Given the description of an element on the screen output the (x, y) to click on. 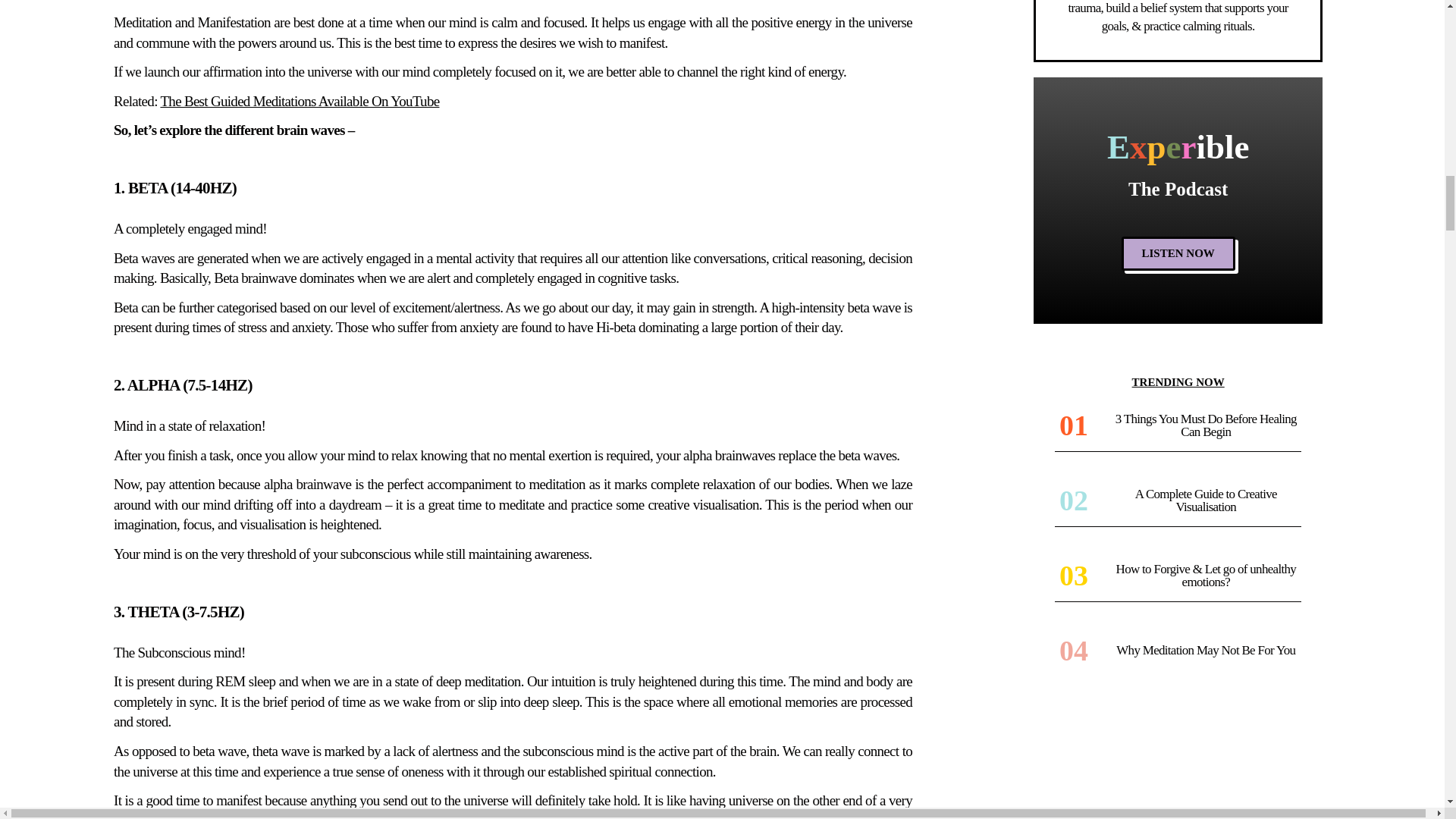
Why Meditation May Not Be For You (1205, 649)
LISTEN NOW (1177, 253)
The Best Guided Meditations Available On YouTube (299, 100)
A Complete Guide to Creative Visualisation (1205, 500)
3 Things You Must Do Before Healing Can Begin (1206, 424)
